Given the description of an element on the screen output the (x, y) to click on. 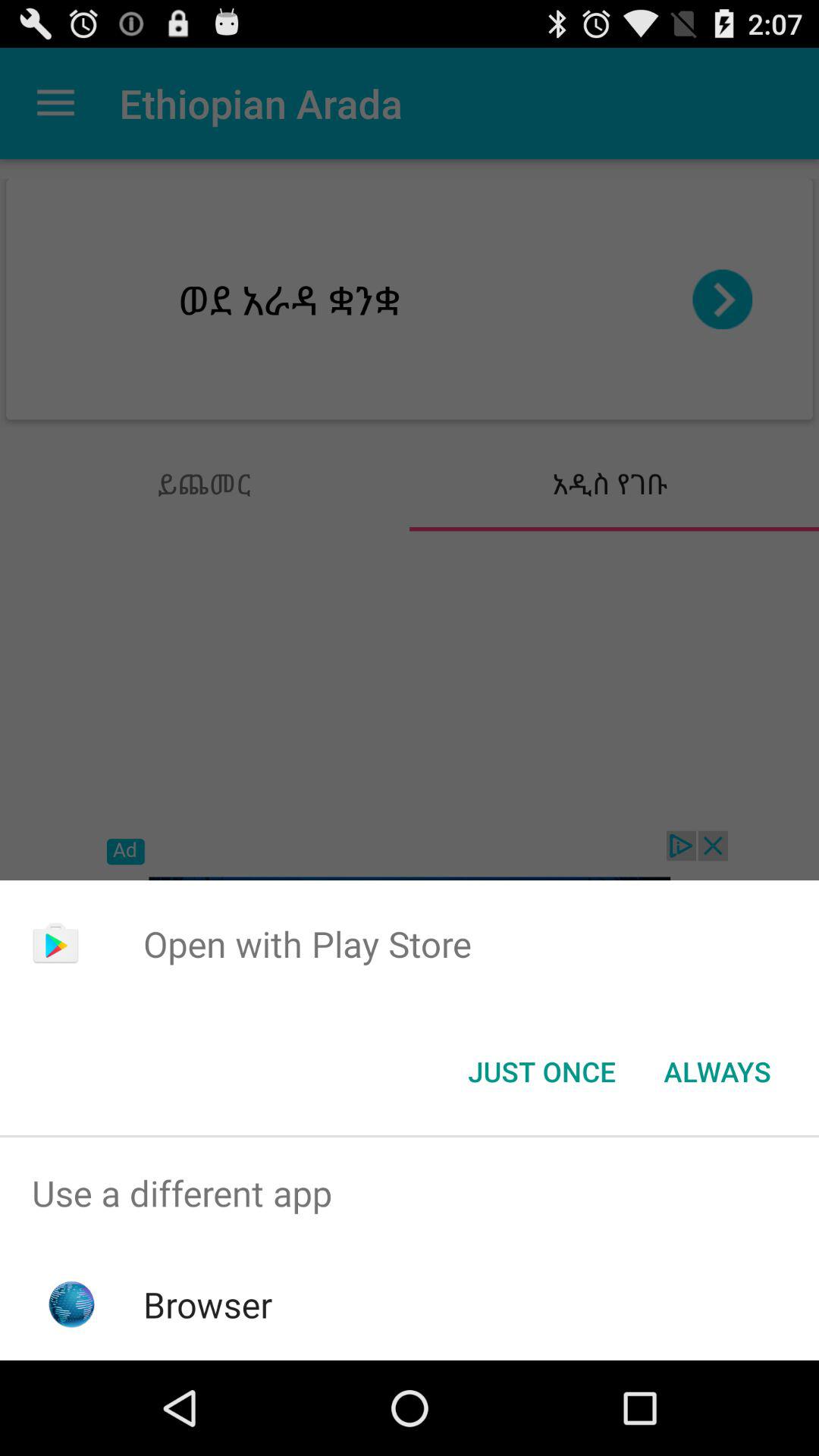
tap the item below open with play app (541, 1071)
